Given the description of an element on the screen output the (x, y) to click on. 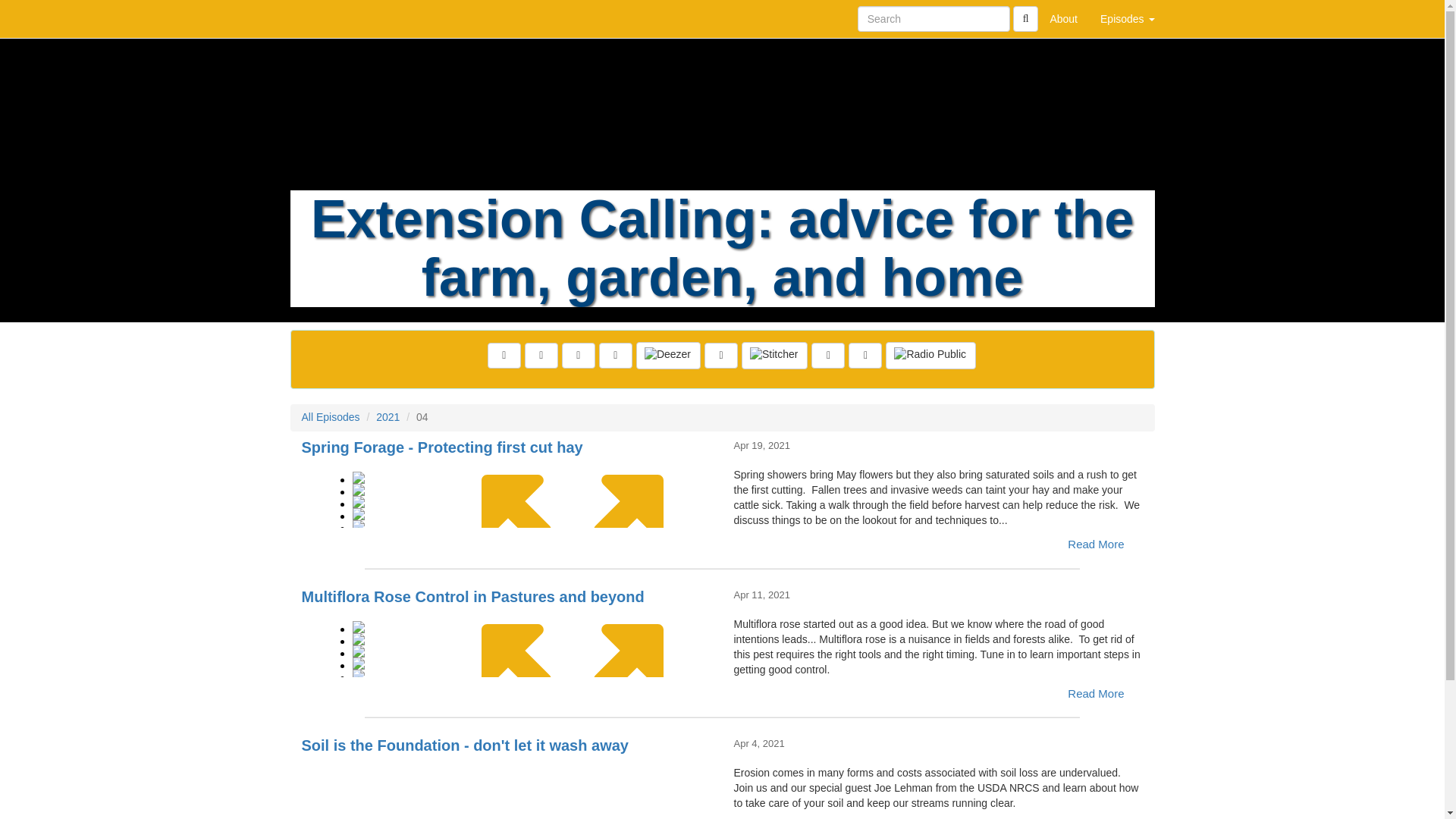
About (1063, 18)
Spring Forage - Protecting first cut hay (506, 493)
Subscribe to RSS Feed (614, 355)
Home Page (320, 18)
Listen on Deezer (668, 355)
Visit Us on Twitter (540, 355)
Soil is the Foundation - don't let it wash away (506, 788)
Go To YouTube Channel (865, 355)
Listen on Radio Public (930, 355)
Multiflora Rose Control in Pastures and beyond (506, 643)
